Given the description of an element on the screen output the (x, y) to click on. 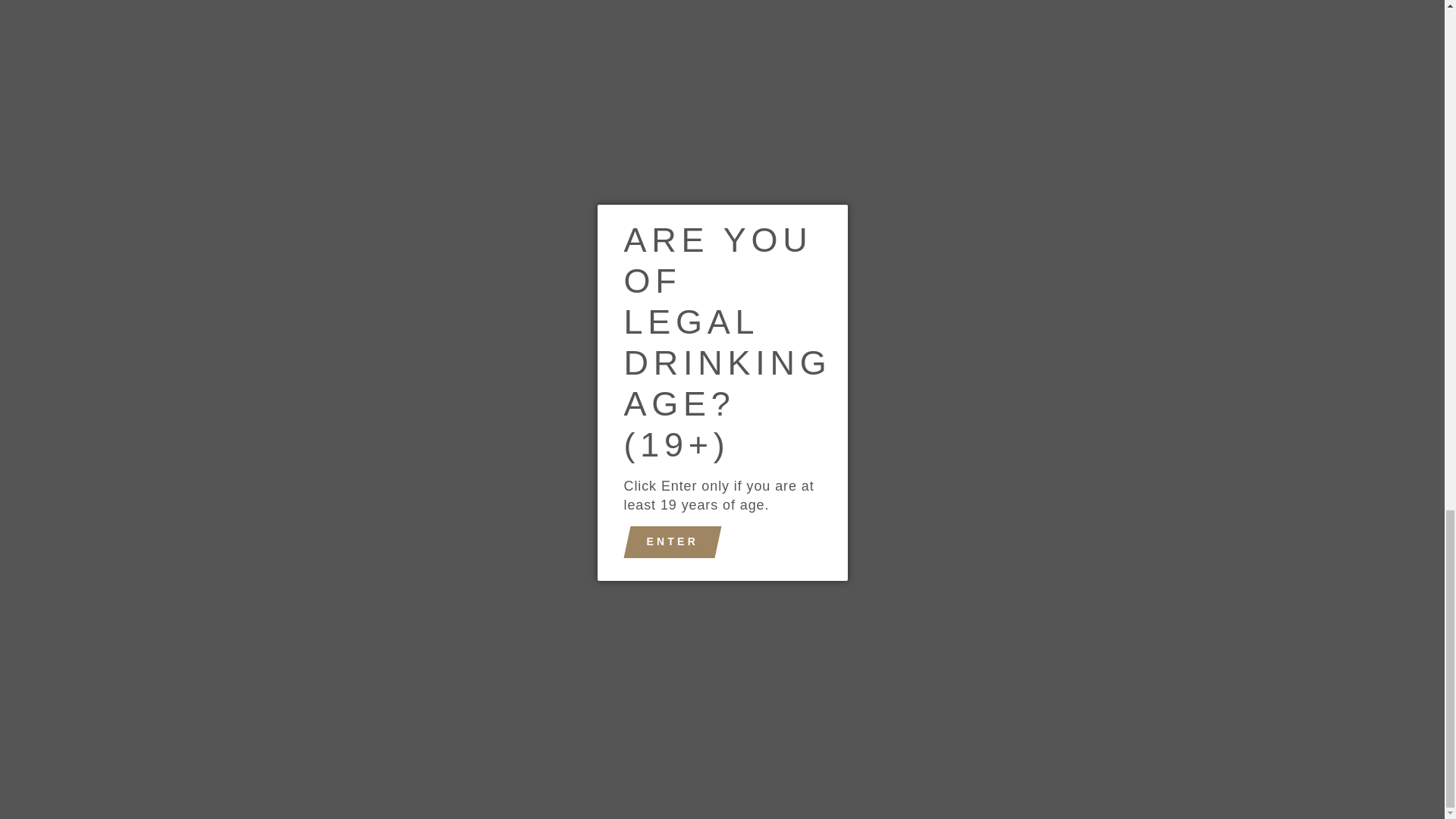
Shop Pay (809, 728)
Diners Club (669, 728)
Visa (844, 728)
Ridge Rock Brewing Company on Facebook (222, 675)
Discover (704, 728)
Mastercard (774, 728)
Ridge Rock Brewing Company on Twitter (251, 675)
Apple Pay (634, 728)
American Express (599, 728)
Google Pay (739, 728)
